Given the description of an element on the screen output the (x, y) to click on. 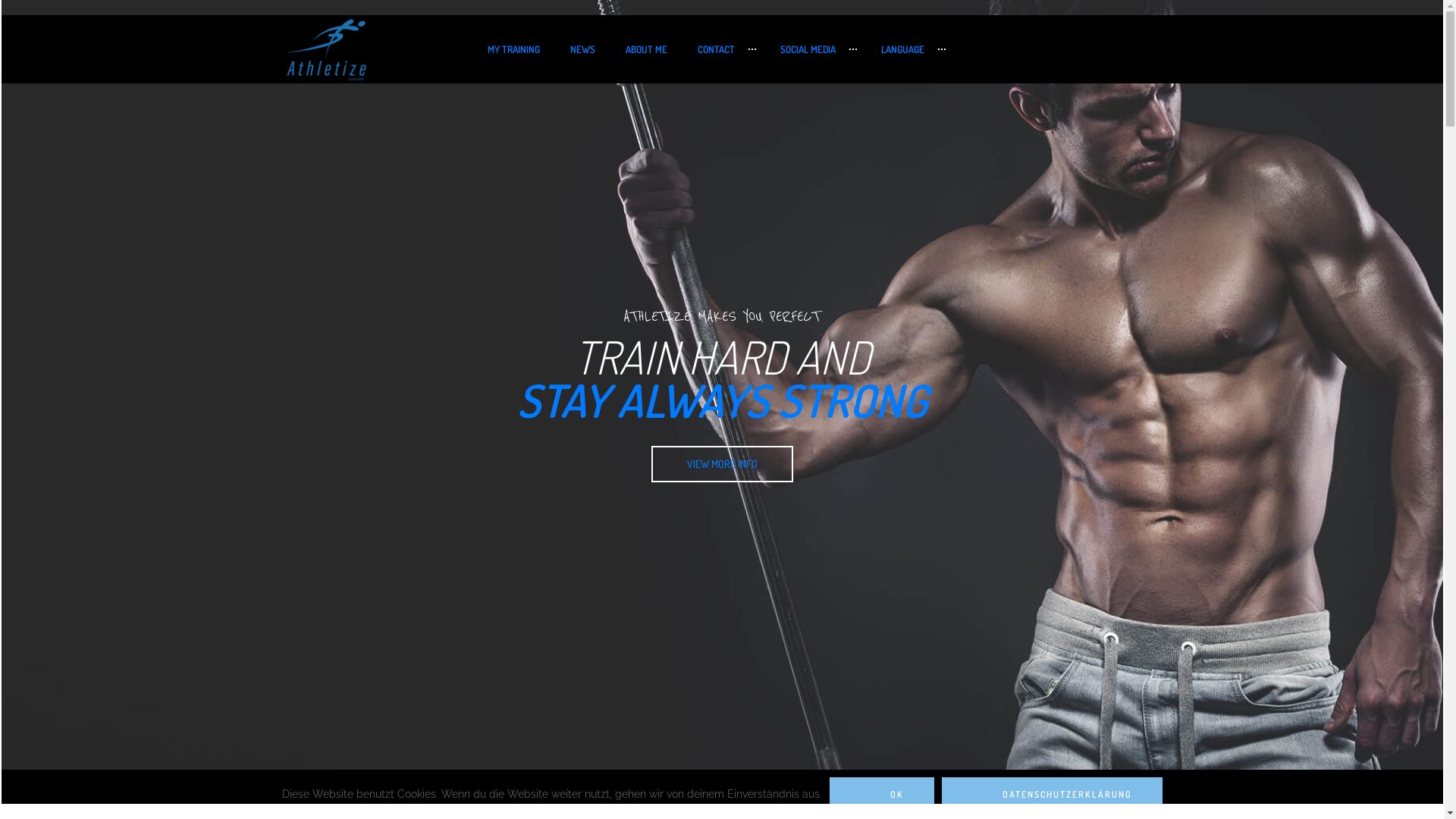
MY TRAINING Element type: text (512, 49)
SOCIAL MEDIA Element type: text (814, 49)
OK Element type: text (881, 794)
LANGUAGE Element type: text (910, 49)
NEWS Element type: text (582, 49)
ABOUT ME Element type: text (645, 49)
CONTACT Element type: text (723, 49)
